Given the description of an element on the screen output the (x, y) to click on. 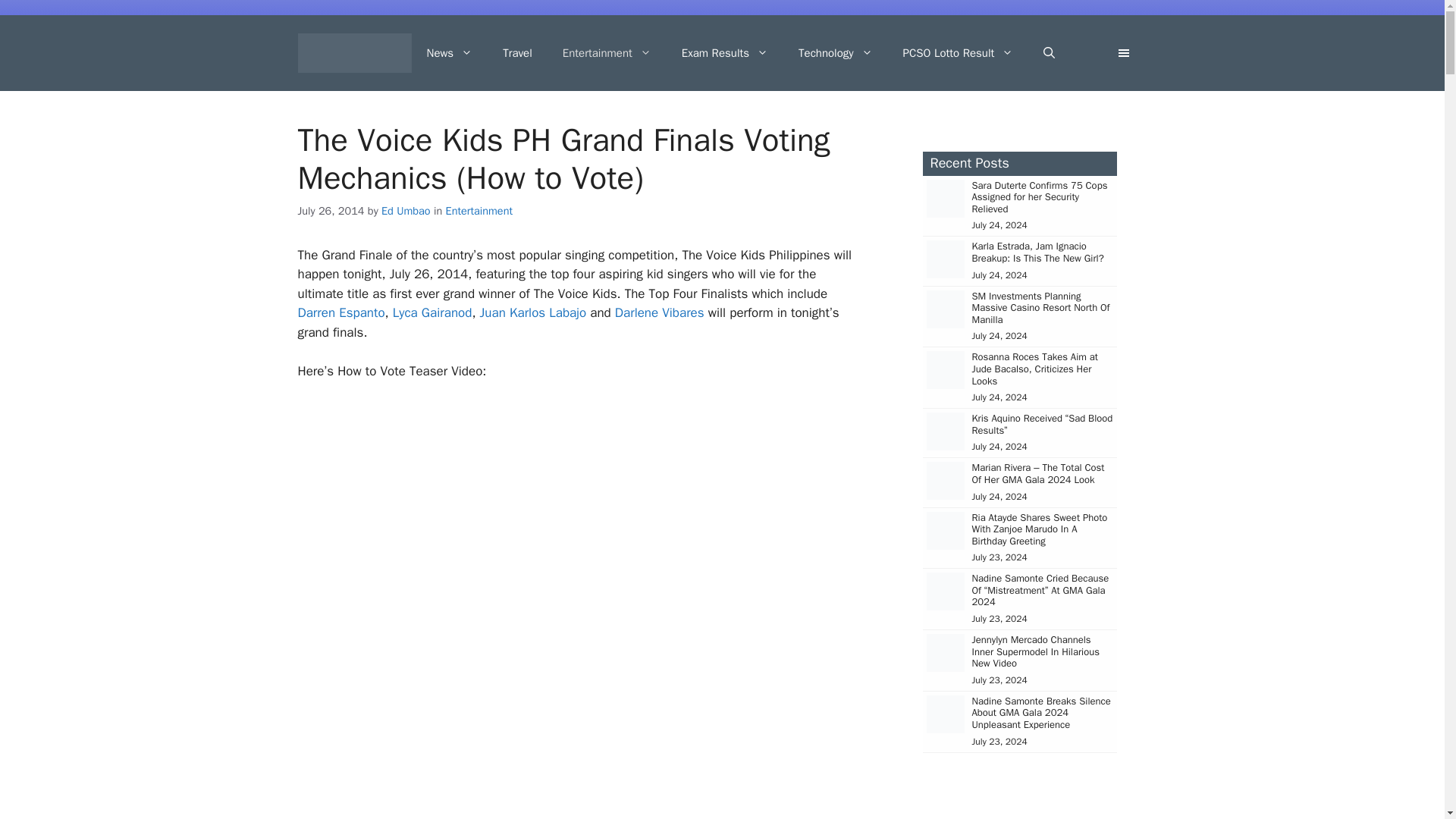
News (448, 53)
Exam Results (724, 53)
Travel (517, 53)
View all posts by Ed Umbao (405, 210)
Entertainment (606, 53)
